Given the description of an element on the screen output the (x, y) to click on. 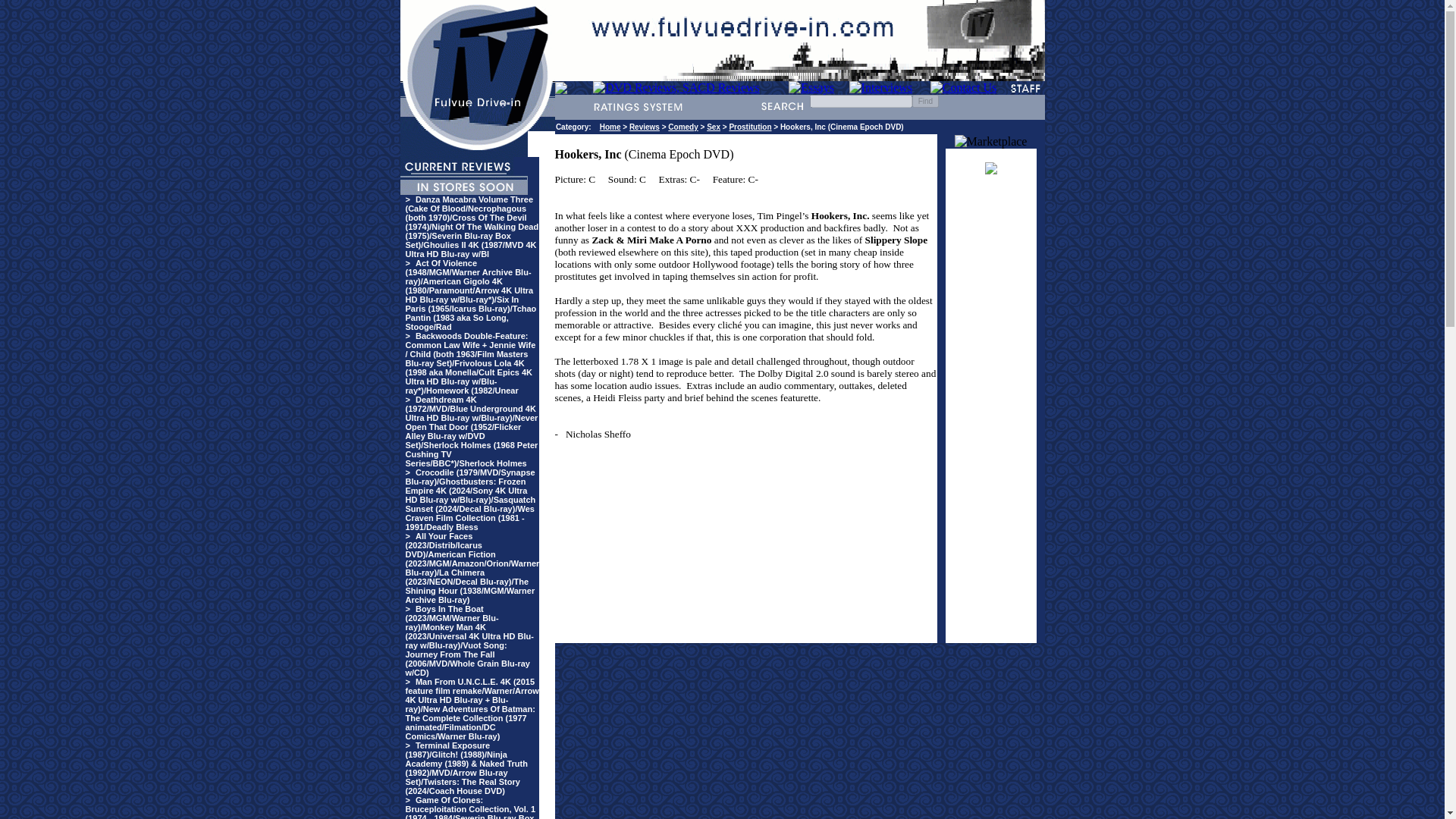
Find (925, 101)
Reviews (643, 126)
Find (925, 101)
Home (610, 126)
